Given the description of an element on the screen output the (x, y) to click on. 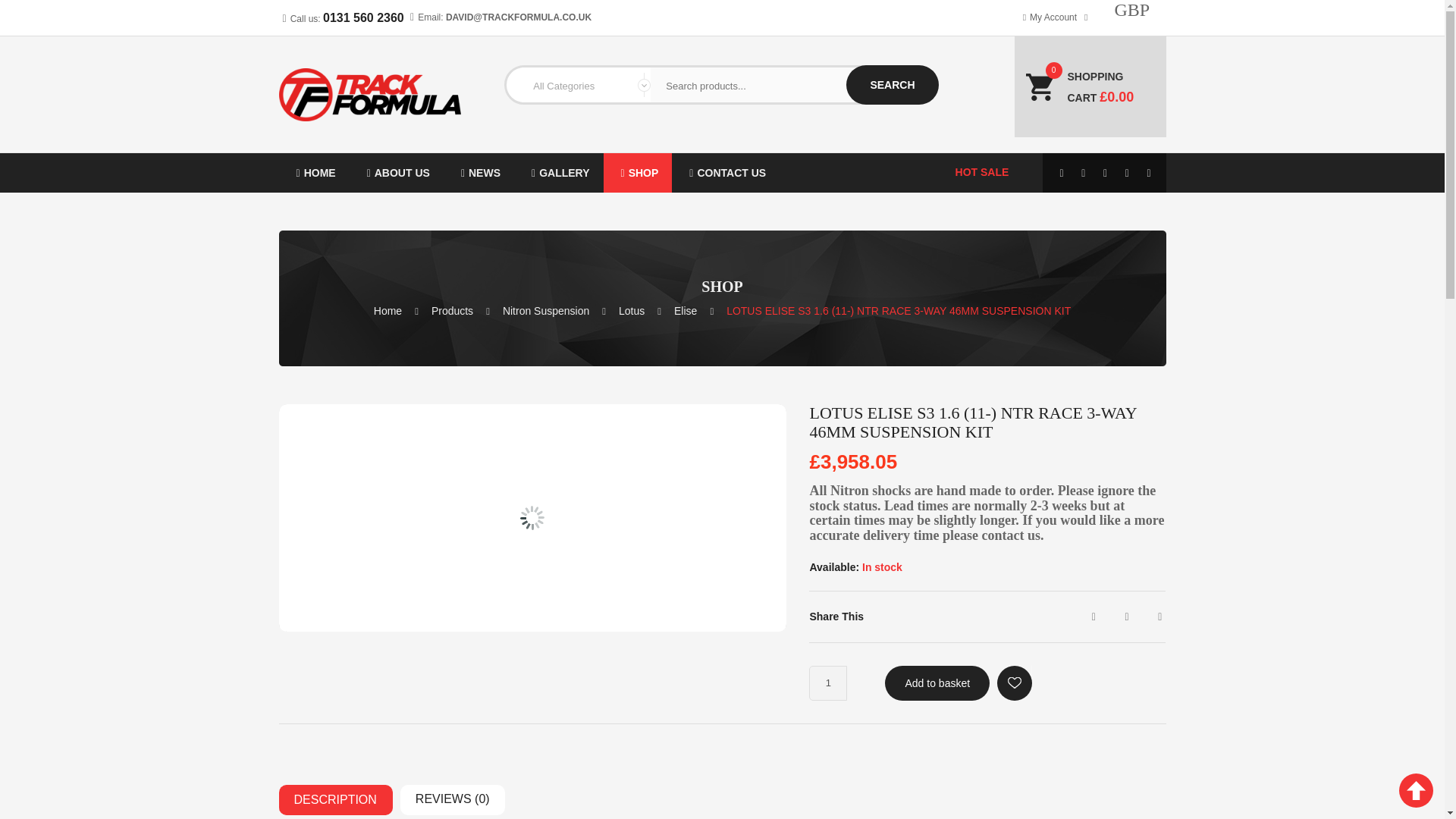
FDF (314, 172)
NEWS (478, 172)
SHOP (638, 172)
SEARCH (891, 84)
HOME (314, 172)
GALLERY (558, 172)
1 (828, 683)
GBP (1140, 45)
ABOUT US (396, 172)
Search (891, 84)
